Given the description of an element on the screen output the (x, y) to click on. 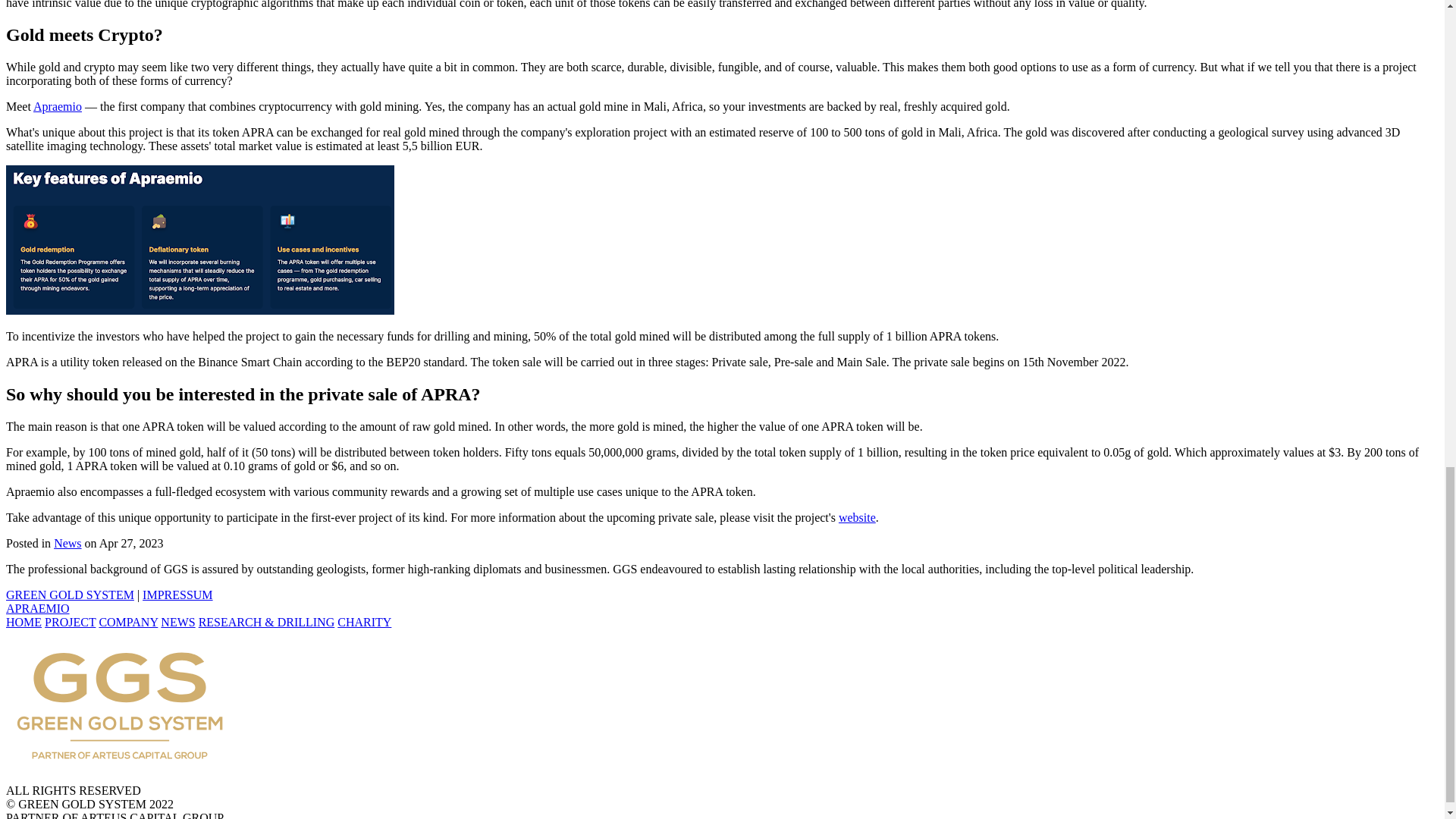
APRAEMIO (37, 608)
HOME (23, 621)
COMPANY (128, 621)
GREEN GOLD SYSTEM (69, 594)
CHARITY (364, 621)
Apraemio (57, 106)
News (67, 543)
NEWS (177, 621)
website (857, 517)
IMPRESSUM (177, 594)
